Given the description of an element on the screen output the (x, y) to click on. 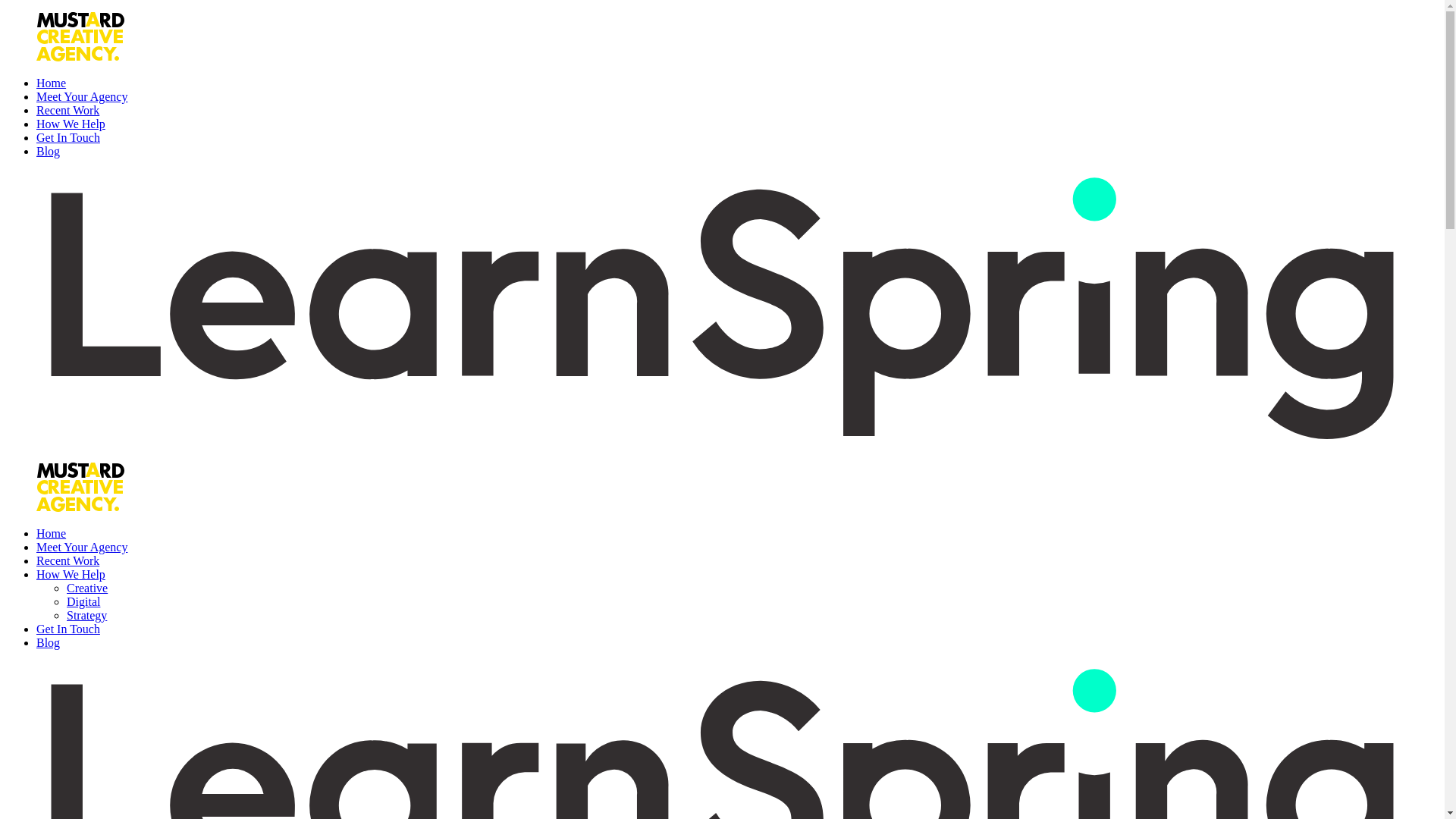
Go Home Element type: hover (722, 38)
Recent Work Element type: text (67, 560)
Get In Touch Element type: text (68, 137)
Home Element type: text (50, 533)
Creative Element type: text (86, 587)
Strategy Element type: text (86, 614)
Meet Your Agency Element type: text (81, 546)
Meet Your Agency Element type: text (81, 96)
Blog Element type: text (47, 150)
How We Help Element type: text (70, 123)
Get In Touch Element type: text (68, 628)
How We Help Element type: text (70, 573)
Recent Work Element type: text (67, 109)
Home Element type: text (50, 82)
Blog Element type: text (47, 642)
Digital Element type: text (83, 601)
Go Home Element type: hover (722, 488)
Go Home Element type: hover (722, 310)
